Given the description of an element on the screen output the (x, y) to click on. 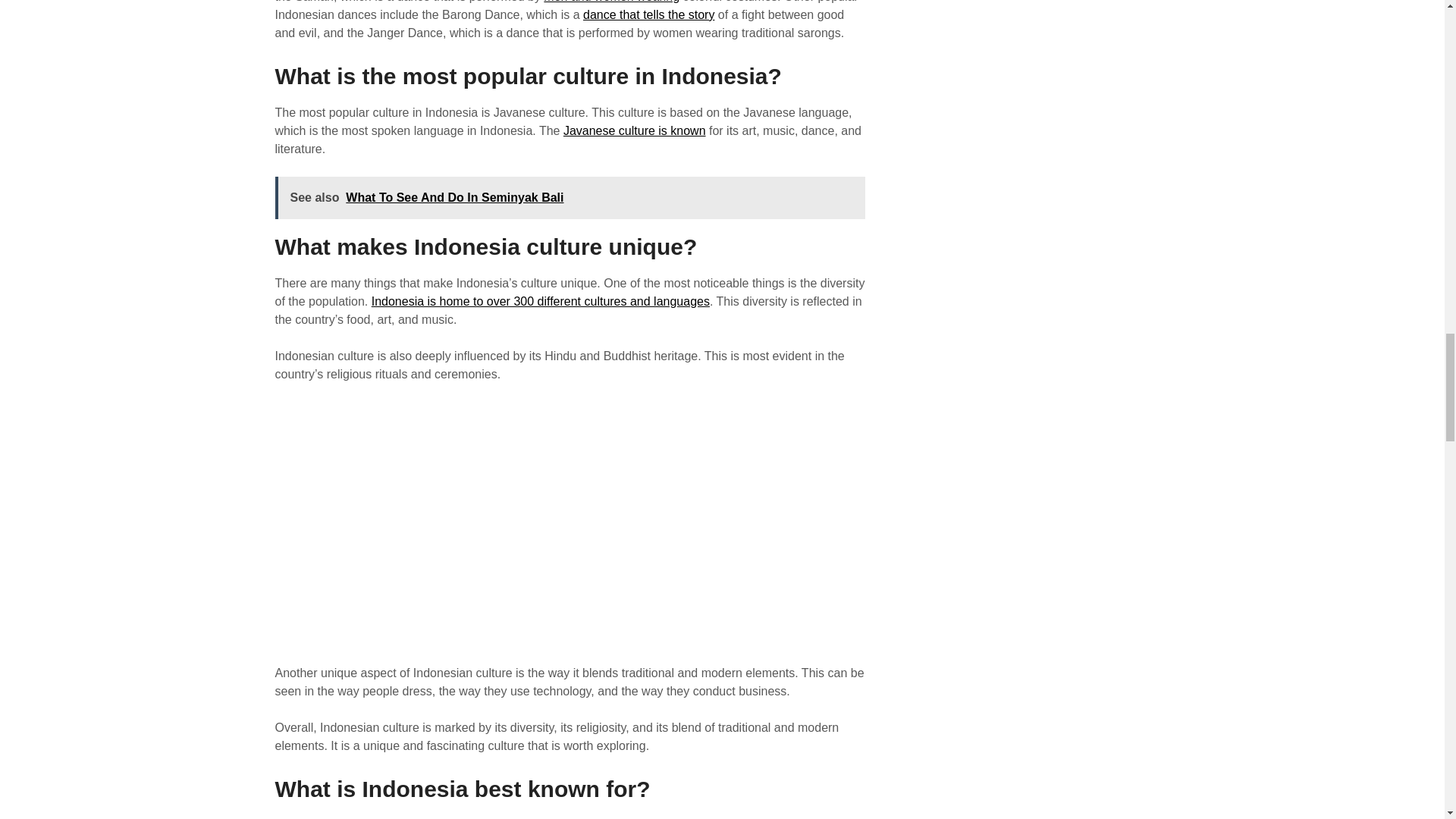
See also  What To See And Do In Seminyak Bali (569, 197)
dance that tells the story (648, 14)
men and women wearing (611, 1)
Javanese culture is known (634, 130)
